Given the description of an element on the screen output the (x, y) to click on. 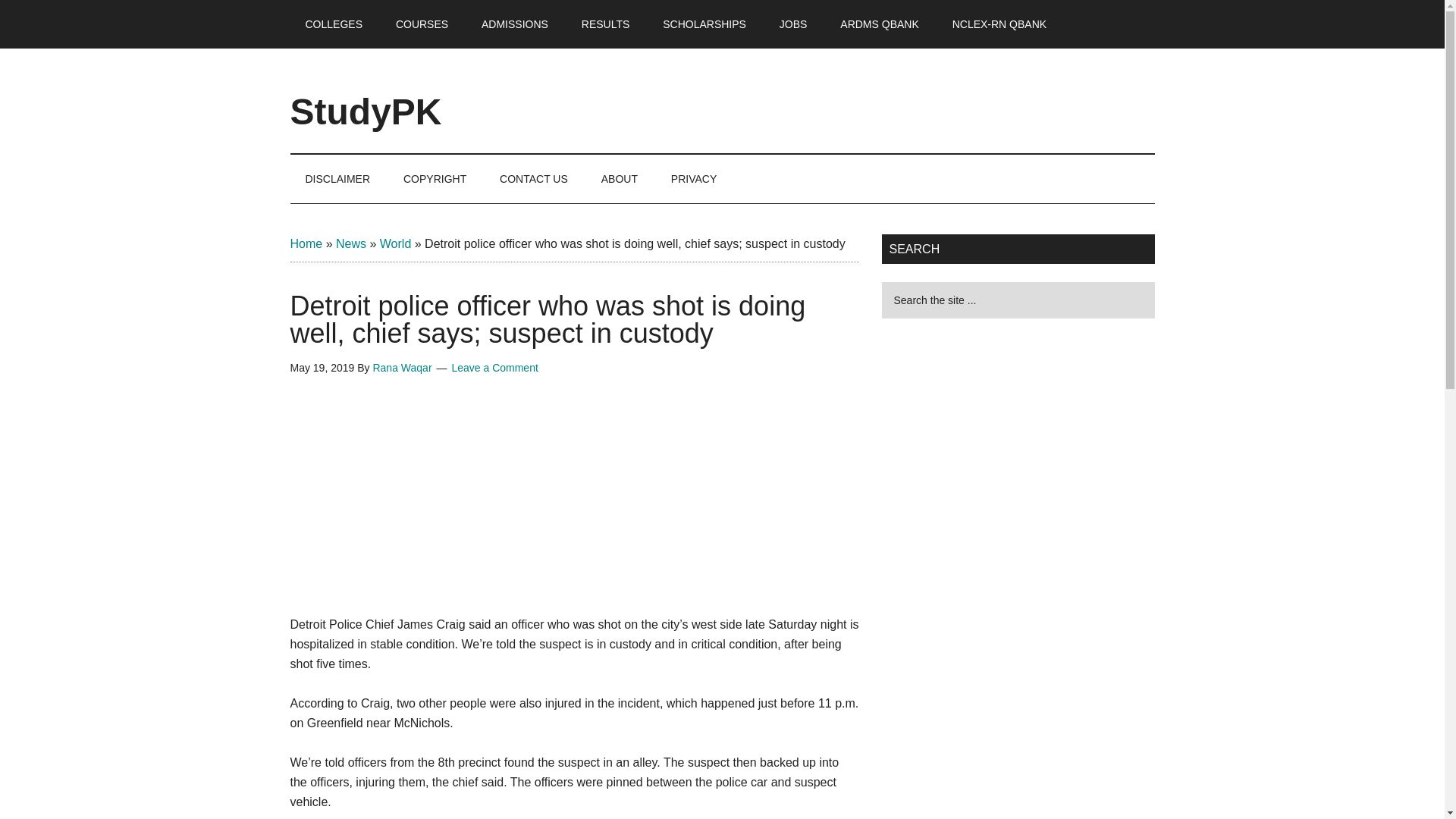
JOBS (793, 24)
News (351, 243)
Leave a Comment (494, 367)
COPYRIGHT (434, 178)
DISCLAIMER (337, 178)
PRIVACY (694, 178)
COLLEGES (333, 24)
StudyPK (365, 111)
SCHOLARSHIPS (704, 24)
ADMISSIONS (514, 24)
Advertisement (574, 506)
Home (305, 243)
